Given the description of an element on the screen output the (x, y) to click on. 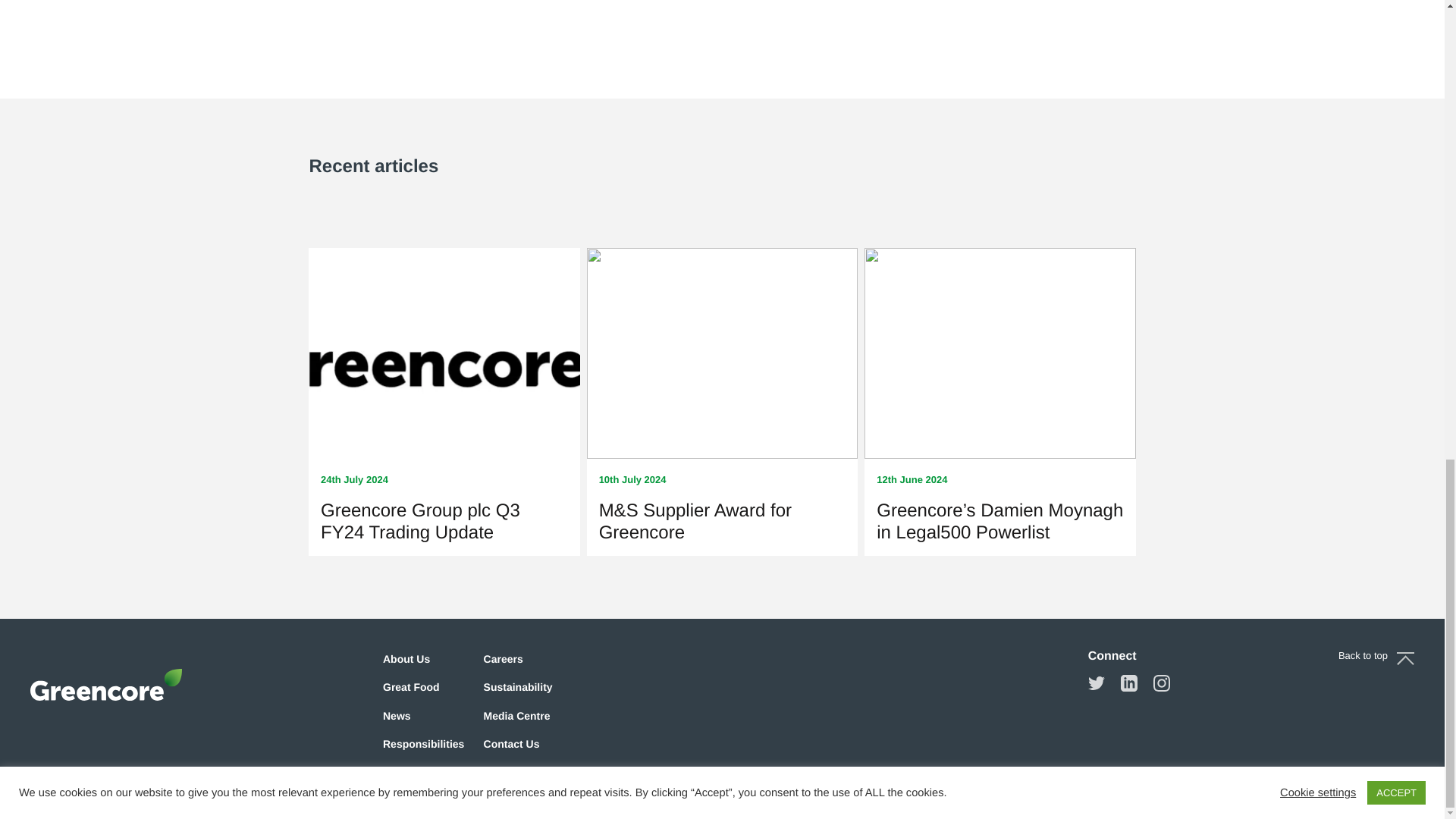
Return to Greencore homepage (106, 684)
Back to top (1375, 655)
Greencore Group plc Q3 FY24 Trading Update (419, 521)
